Given the description of an element on the screen output the (x, y) to click on. 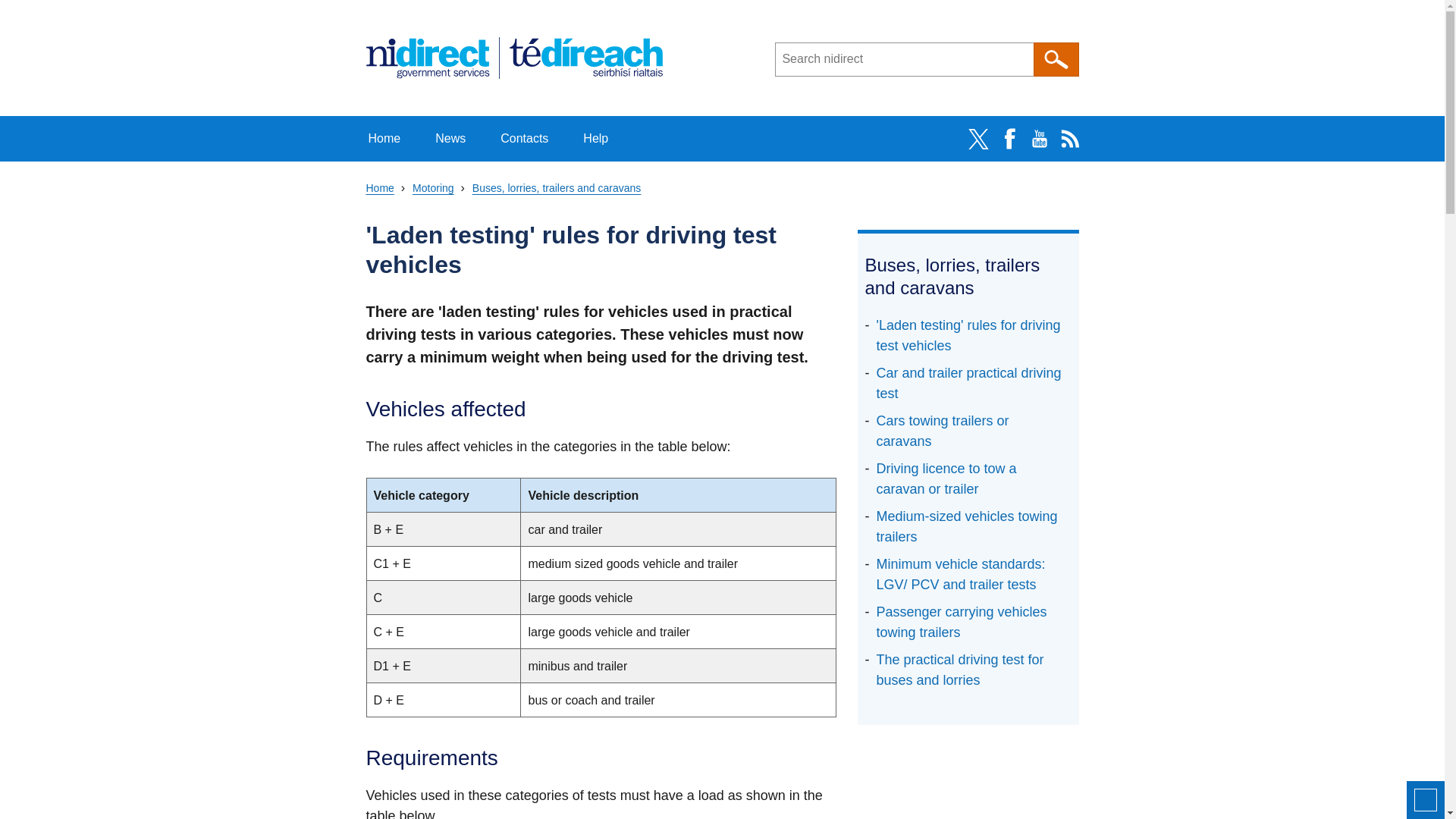
Home (383, 138)
Search (1055, 59)
News (450, 138)
Search (1055, 59)
Contacts (524, 138)
Facebook (1007, 138)
Help (596, 138)
YouTube (1038, 138)
Twitter (977, 138)
RSS (1069, 138)
